Given the description of an element on the screen output the (x, y) to click on. 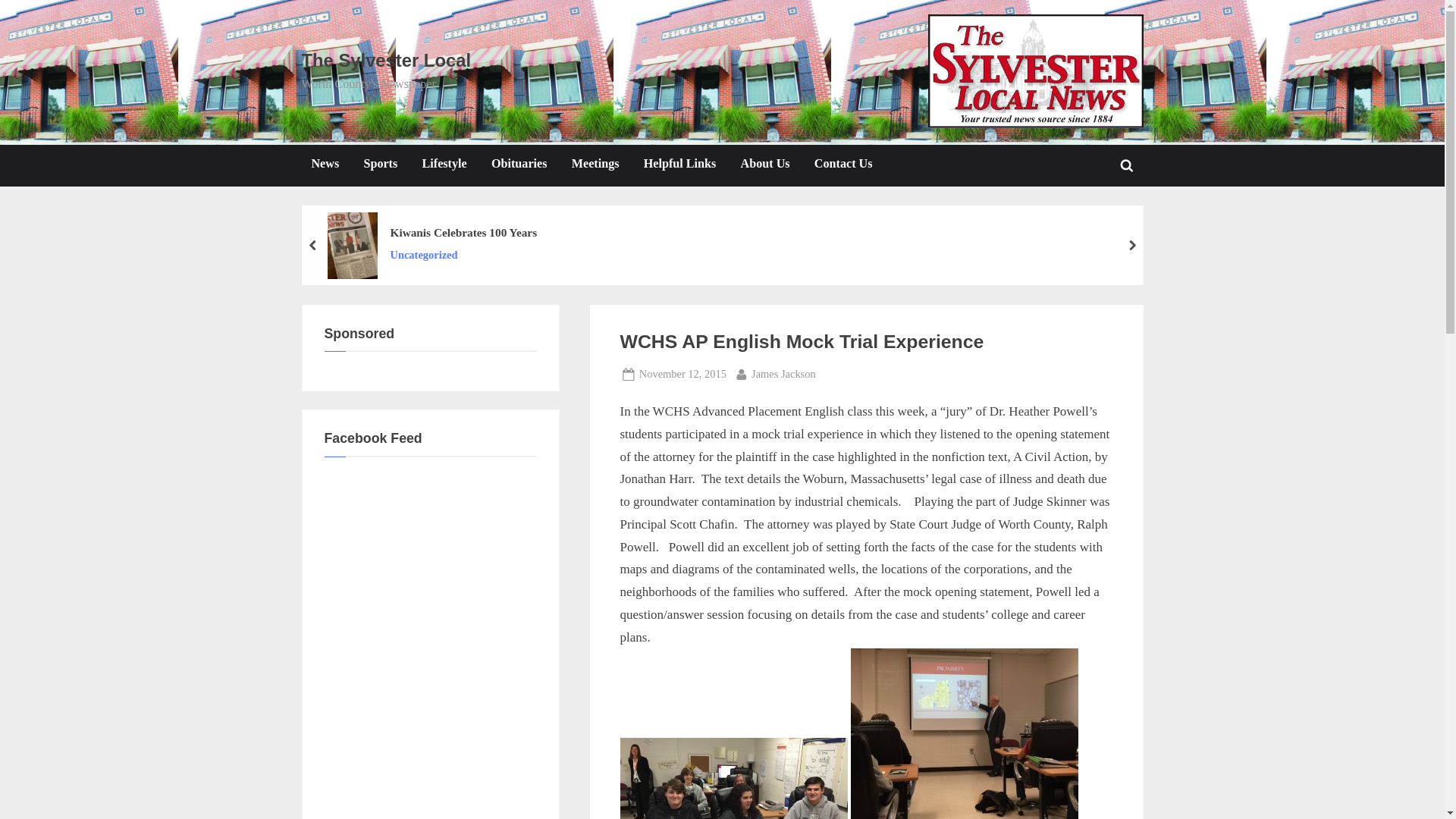
Meetings (595, 165)
Kiwanis Celebrates 100 Years (463, 232)
Uncategorized (463, 254)
Toggle search form (783, 374)
About Us (1126, 165)
The Sylvester Local (764, 165)
Helpful Links (386, 59)
Contact Us (679, 165)
